Given the description of an element on the screen output the (x, y) to click on. 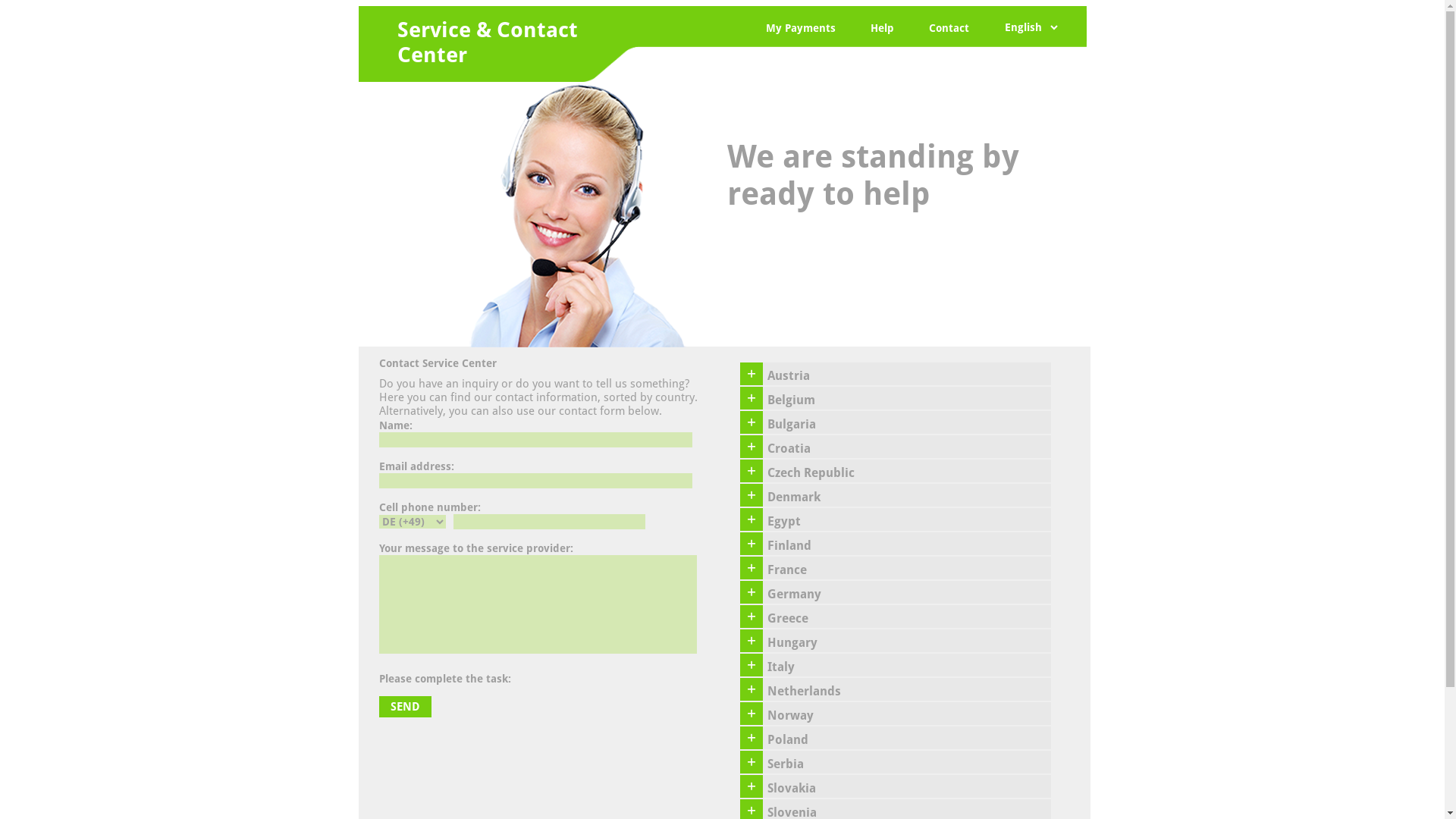
Netherlands Element type: text (906, 688)
Hungary Element type: text (906, 640)
+ Element type: text (751, 543)
+ Element type: text (751, 446)
Serbia Element type: text (906, 761)
Service & Contact Center Element type: text (487, 42)
Czech Republic Element type: text (906, 470)
Belgium Element type: text (906, 397)
+ Element type: text (751, 470)
Austria Element type: text (906, 373)
France Element type: text (906, 567)
Finland Element type: text (906, 543)
Germany Element type: text (906, 591)
Norway Element type: text (906, 713)
+ Element type: text (751, 761)
My Payments Element type: text (798, 25)
+ Element type: text (751, 713)
Help Element type: text (879, 25)
+ Element type: text (751, 688)
+ Element type: text (751, 786)
+ Element type: text (751, 373)
Contact Element type: text (946, 25)
Egypt Element type: text (906, 519)
Greece Element type: text (906, 616)
+ Element type: text (751, 567)
SEND Element type: text (405, 706)
Italy Element type: text (906, 664)
+ Element type: text (751, 519)
+ Element type: text (751, 664)
+ Element type: text (751, 422)
Bulgaria Element type: text (906, 422)
+ Element type: text (751, 616)
+ Element type: text (751, 640)
Slovakia Element type: text (906, 786)
+ Element type: text (751, 397)
+ Element type: text (751, 737)
Denmark Element type: text (906, 494)
+ Element type: text (751, 494)
Poland Element type: text (906, 737)
+ Element type: text (751, 591)
Croatia Element type: text (906, 446)
